Given the description of an element on the screen output the (x, y) to click on. 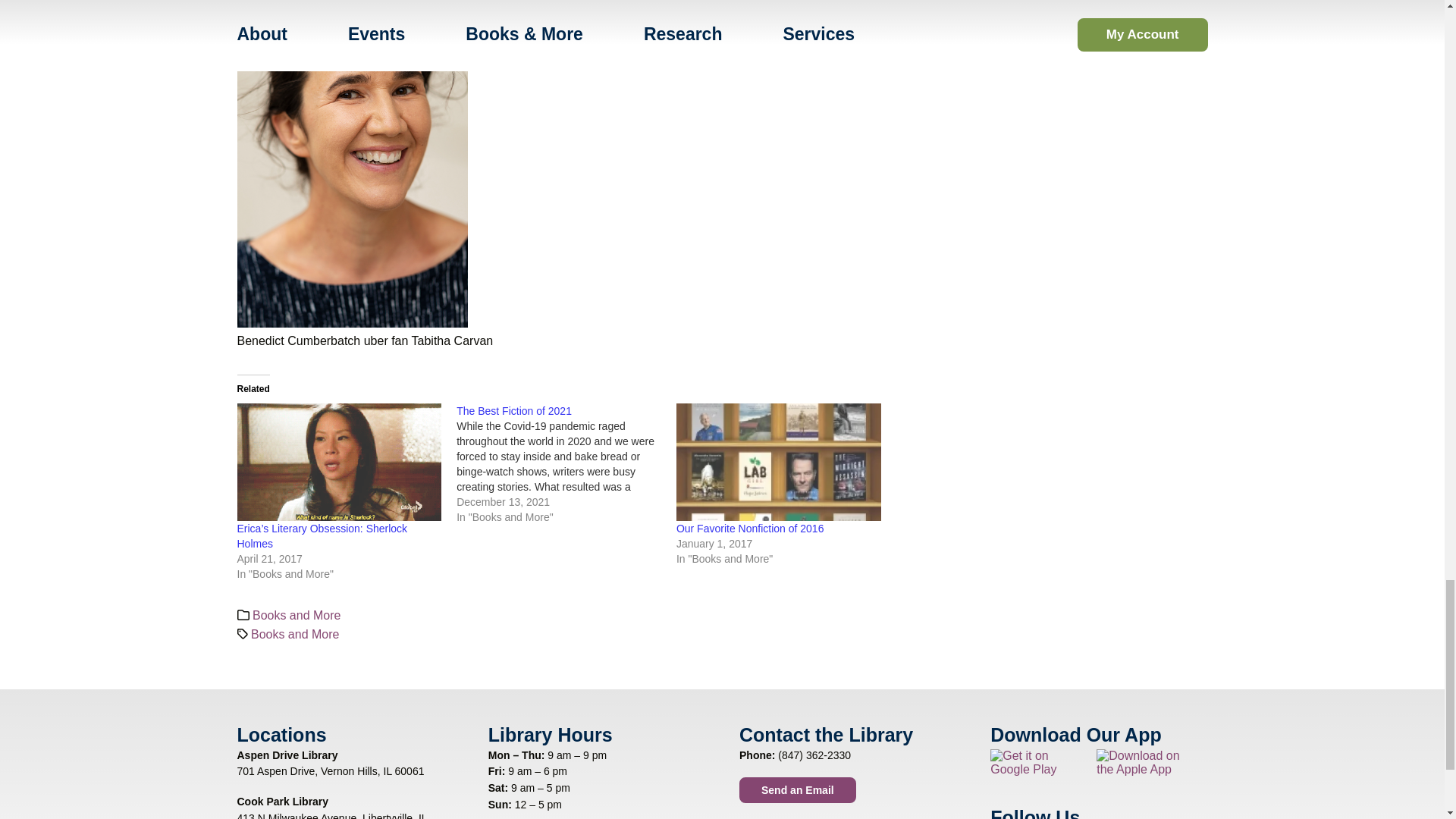
The Best Fiction of 2021 (567, 463)
Our Favorite Nonfiction of 2016 (750, 528)
Our Favorite Nonfiction of 2016 (778, 461)
The Best Fiction of 2021 (514, 410)
